Given the description of an element on the screen output the (x, y) to click on. 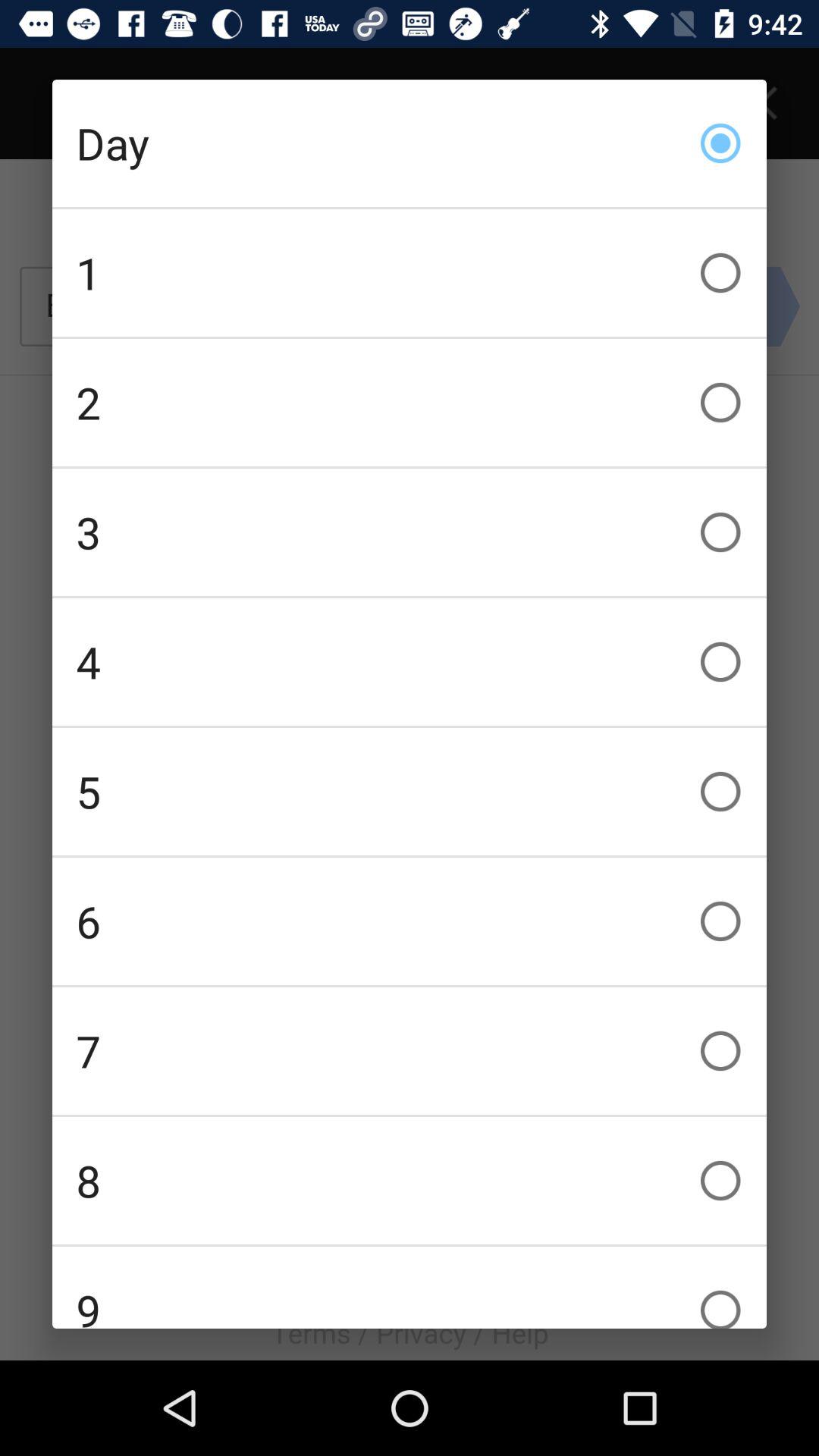
jump until 2 checkbox (409, 402)
